Given the description of an element on the screen output the (x, y) to click on. 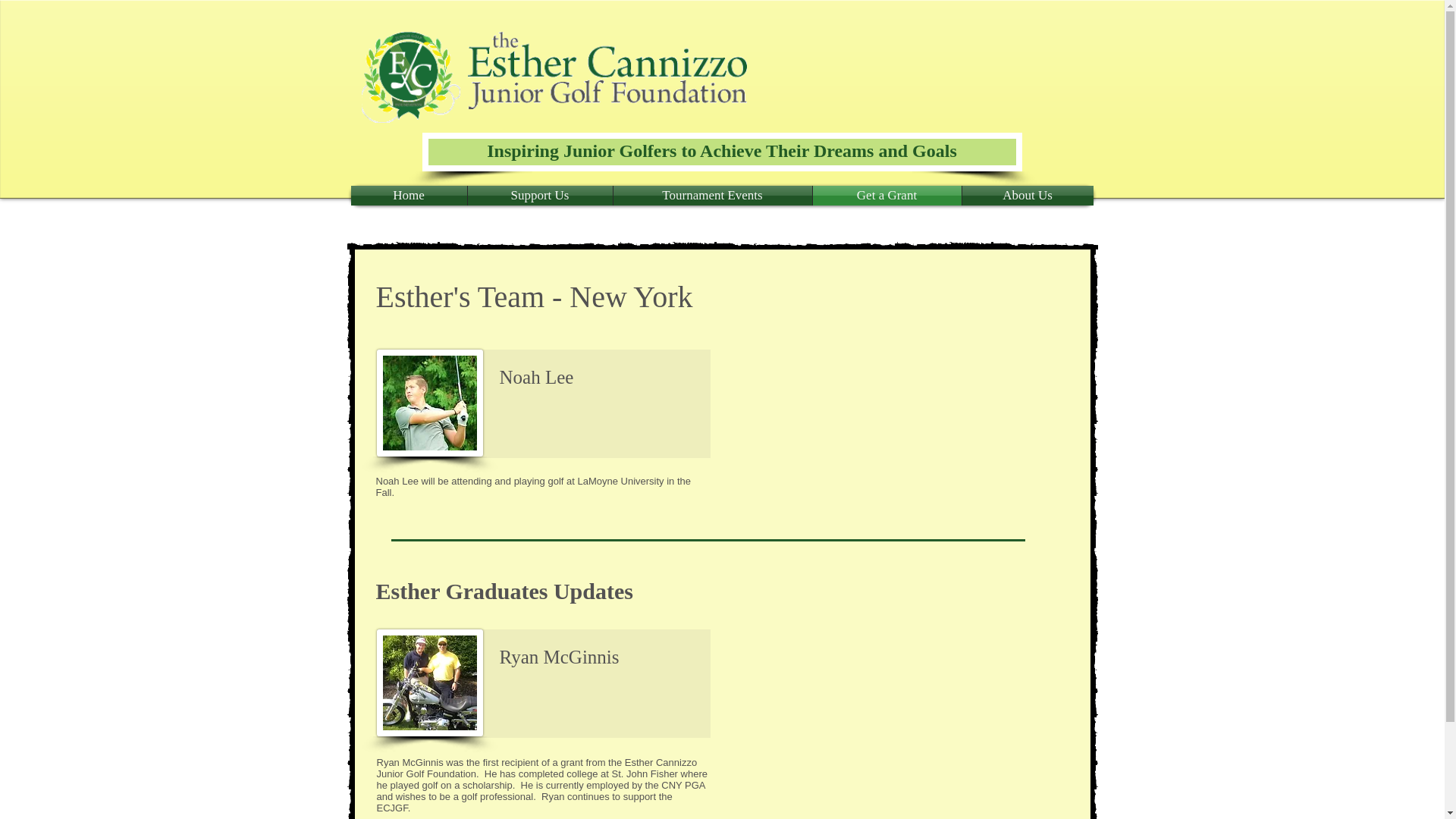
Support Us (539, 195)
Home (407, 195)
Noah Lee.jpg (428, 402)
About Us (1026, 195)
EC logo.gif (410, 76)
Ryan McGinnis.jpg (428, 682)
Tournament Events (711, 195)
Get a Grant (886, 195)
